Given the description of an element on the screen output the (x, y) to click on. 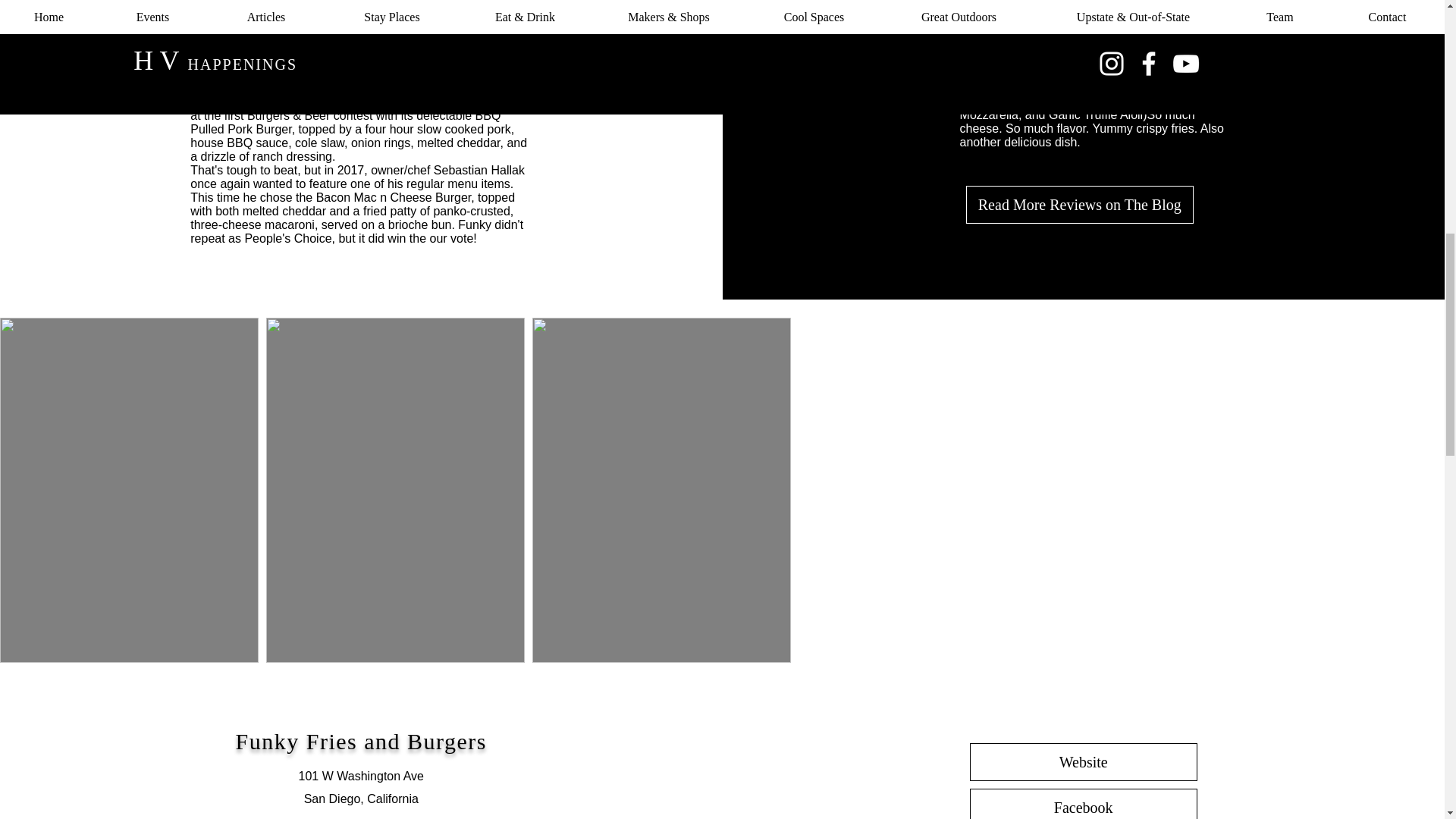
Facebook (1082, 803)
Read More Reviews on The Blog (1079, 204)
Website (1082, 761)
